Given the description of an element on the screen output the (x, y) to click on. 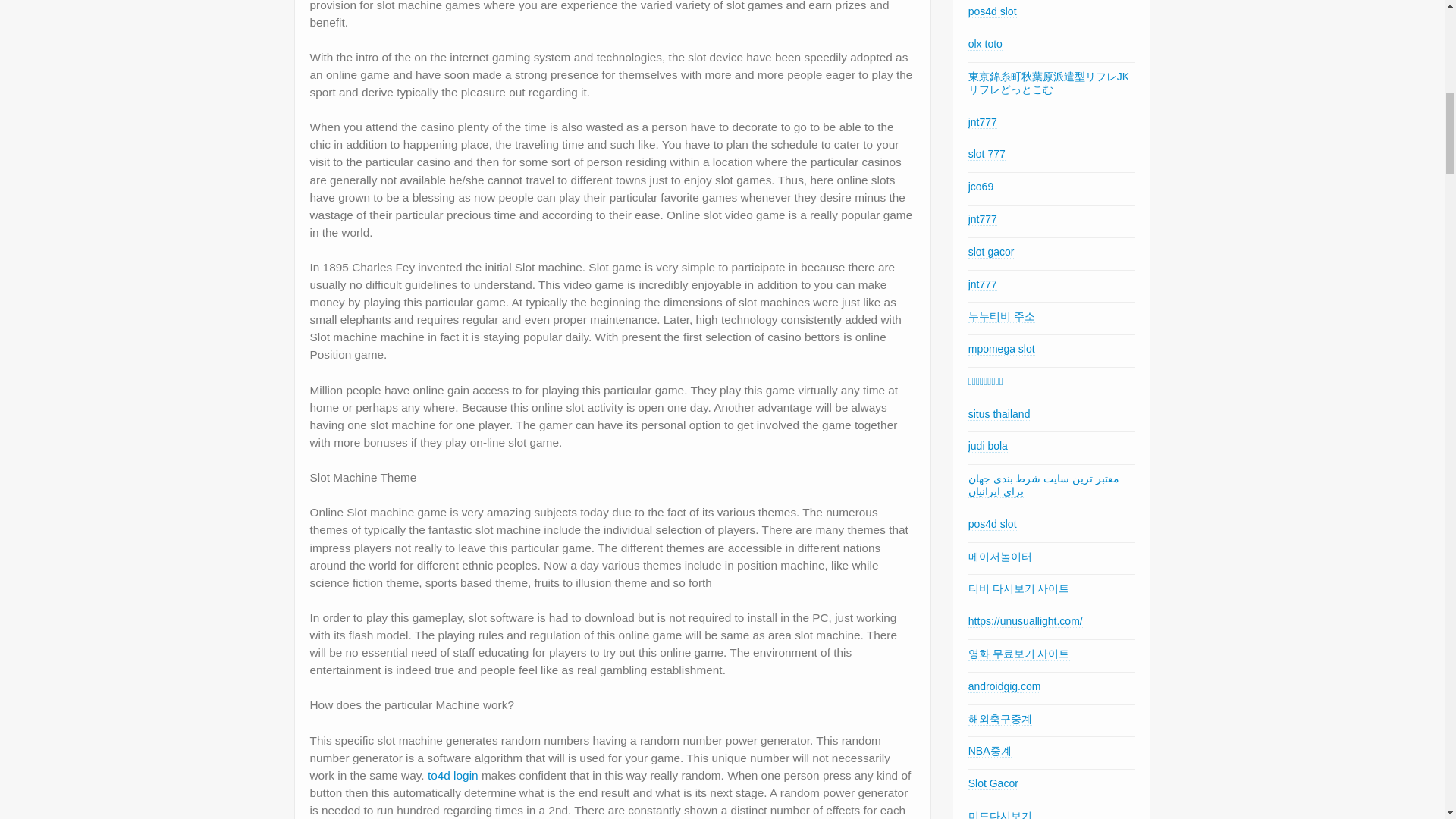
slot 777 (987, 154)
jnt777 (982, 122)
to4d login (453, 775)
pos4d slot (992, 11)
olx toto (985, 43)
